Given the description of an element on the screen output the (x, y) to click on. 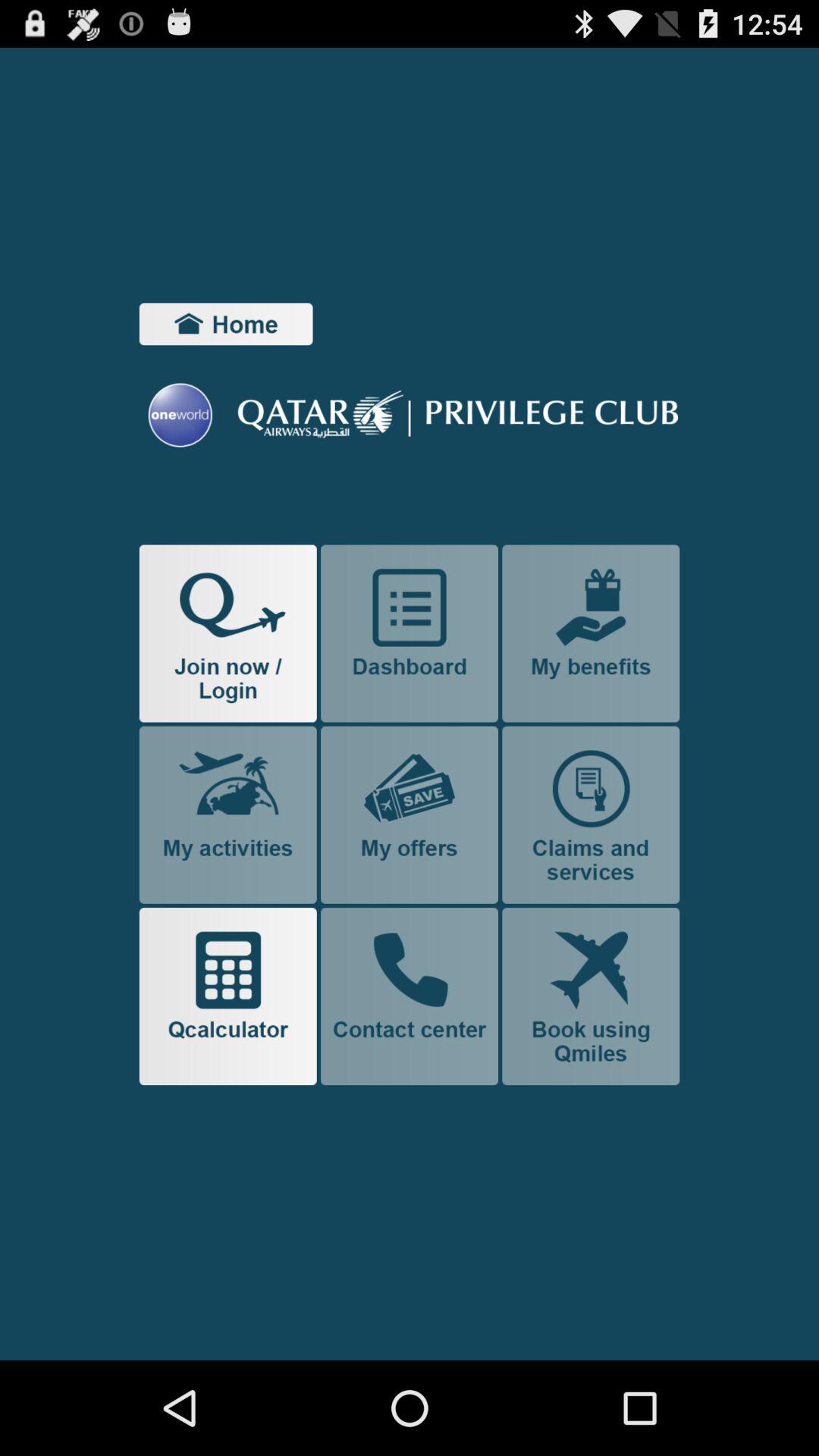
my offers (409, 814)
